Given the description of an element on the screen output the (x, y) to click on. 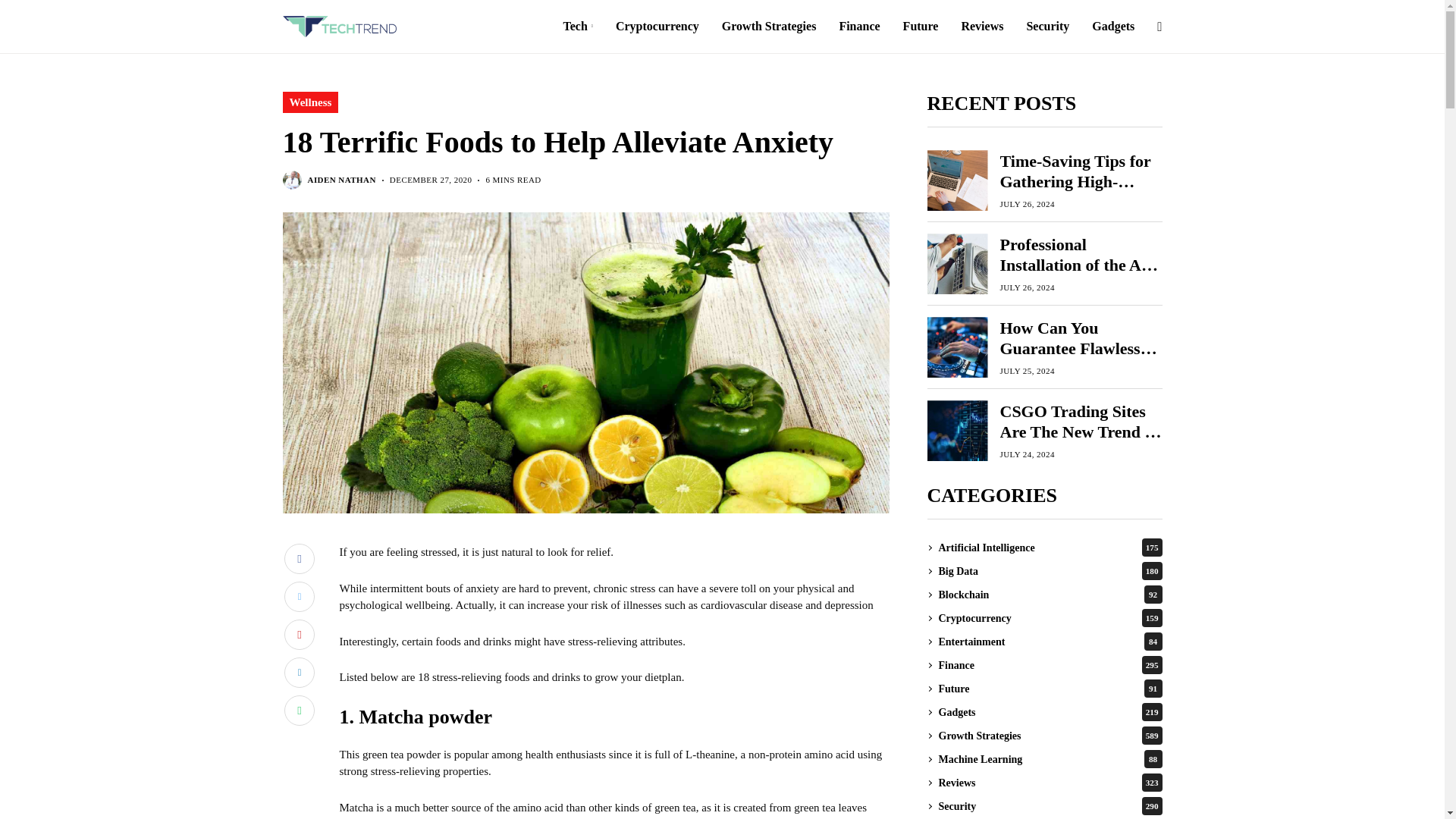
Cryptocurrency (656, 26)
Posts by Aiden Nathan (341, 180)
Growth Strategies (769, 26)
